Given the description of an element on the screen output the (x, y) to click on. 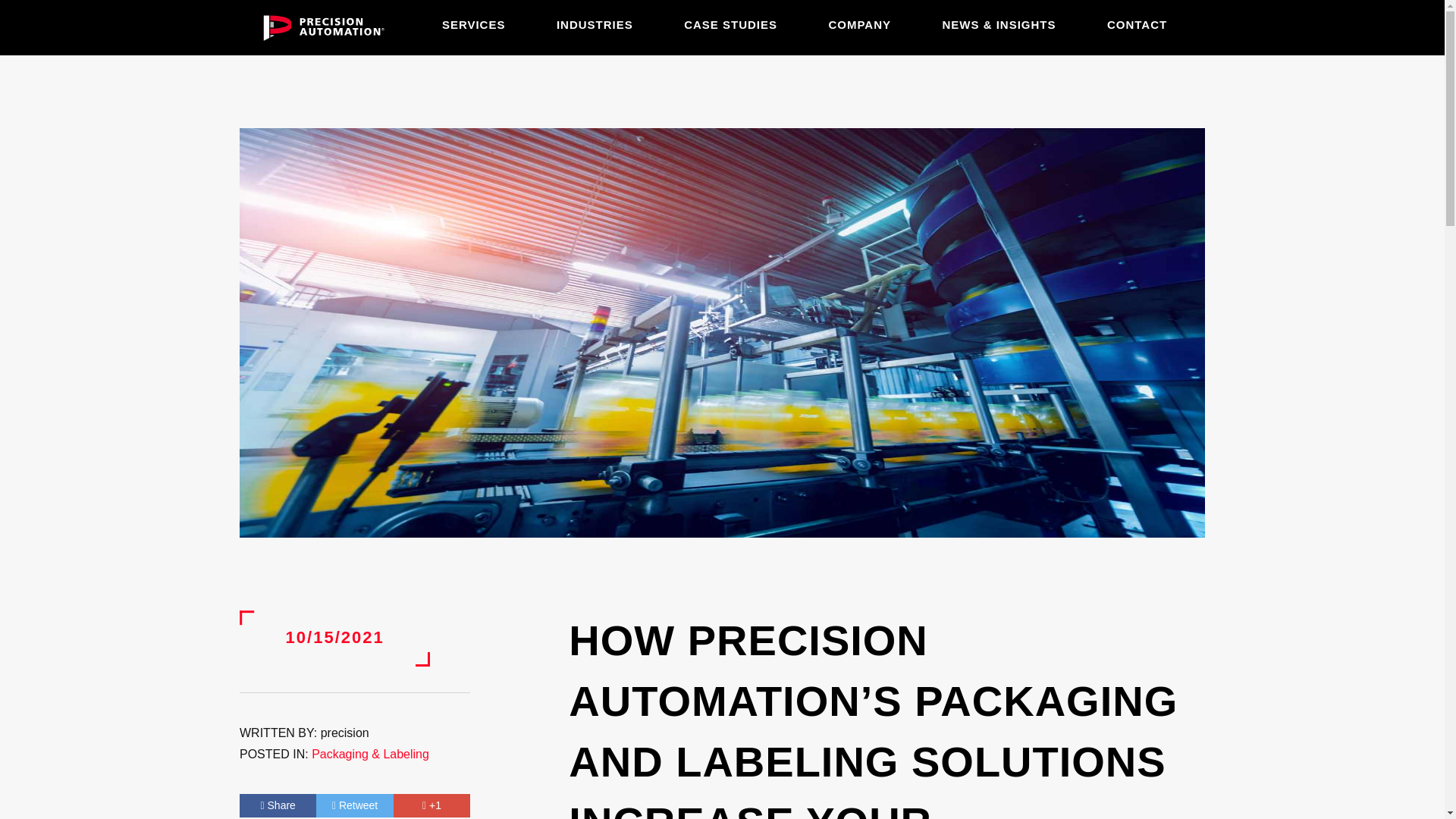
SERVICES (473, 24)
CONTACT (1136, 24)
CASE STUDIES (730, 24)
COMPANY (859, 24)
INDUSTRIES (594, 24)
